Given the description of an element on the screen output the (x, y) to click on. 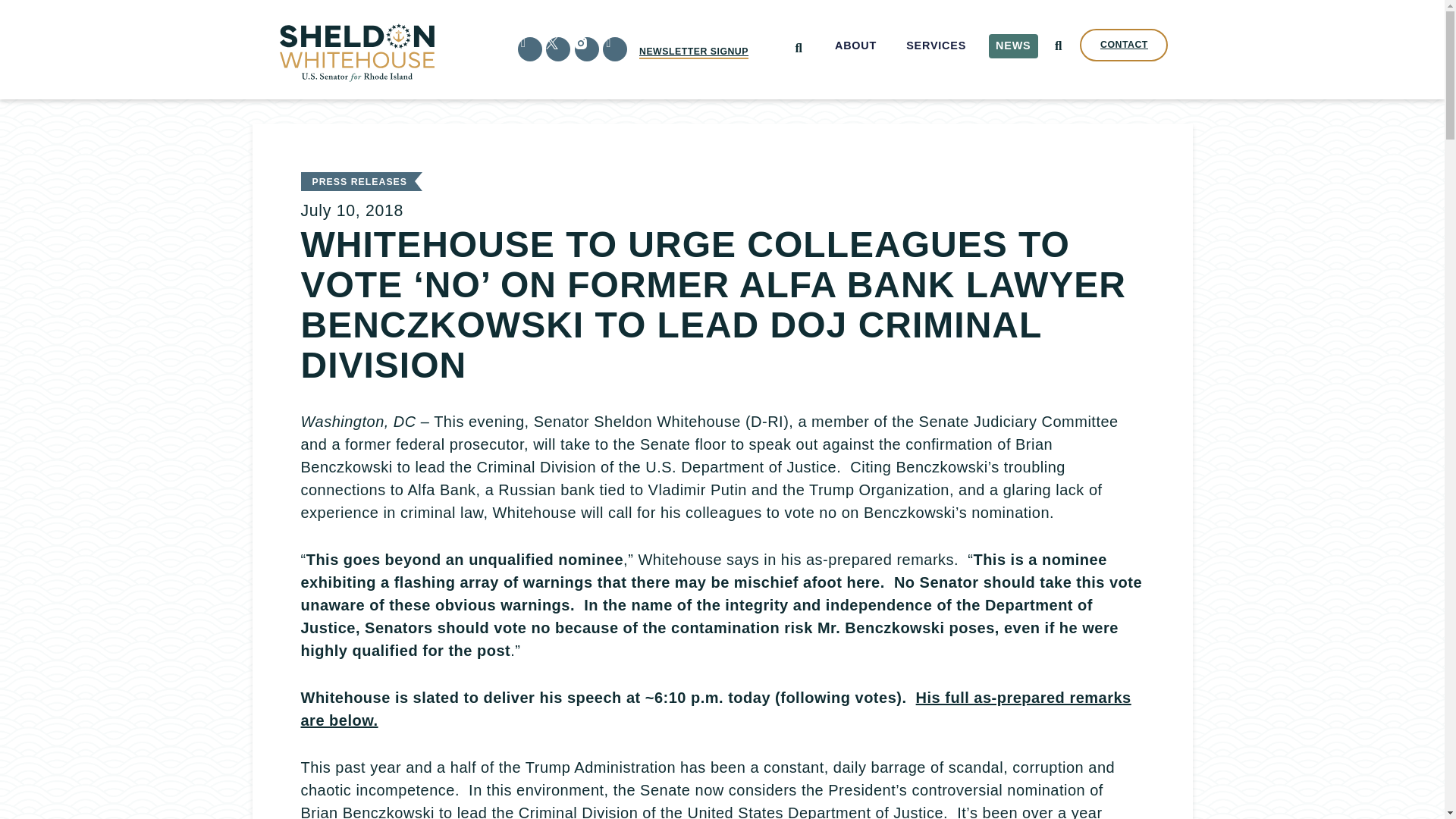
ABOUT (855, 46)
SERVICES (936, 46)
NEWS (1013, 46)
CONTACT (1123, 44)
NEWSLETTER SIGNUP (693, 51)
PRESS RELEASES (360, 181)
